Given the description of an element on the screen output the (x, y) to click on. 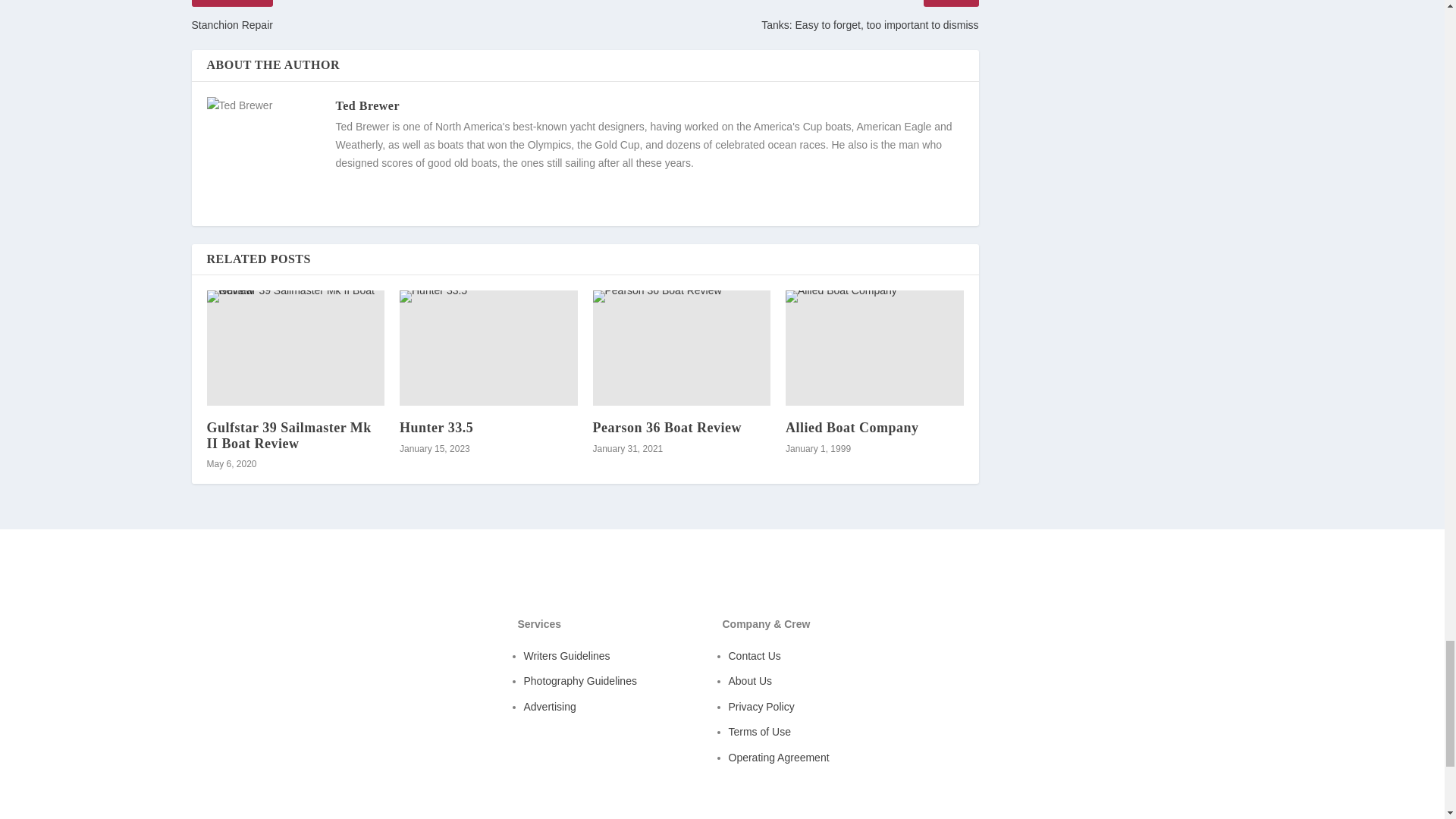
Gulfstar 39 Sailmaster Mk II Boat Review (288, 435)
Allied Boat Company (874, 347)
Hunter 33.5 (435, 427)
Ted Brewer (366, 105)
Allied Boat Company (852, 427)
View all posts by Ted Brewer (366, 105)
Hunter 33.5 (488, 347)
Pearson 36 Boat Review (681, 347)
Gulfstar 39 Sailmaster Mk II Boat Review (295, 347)
Pearson 36 Boat Review (666, 427)
